Given the description of an element on the screen output the (x, y) to click on. 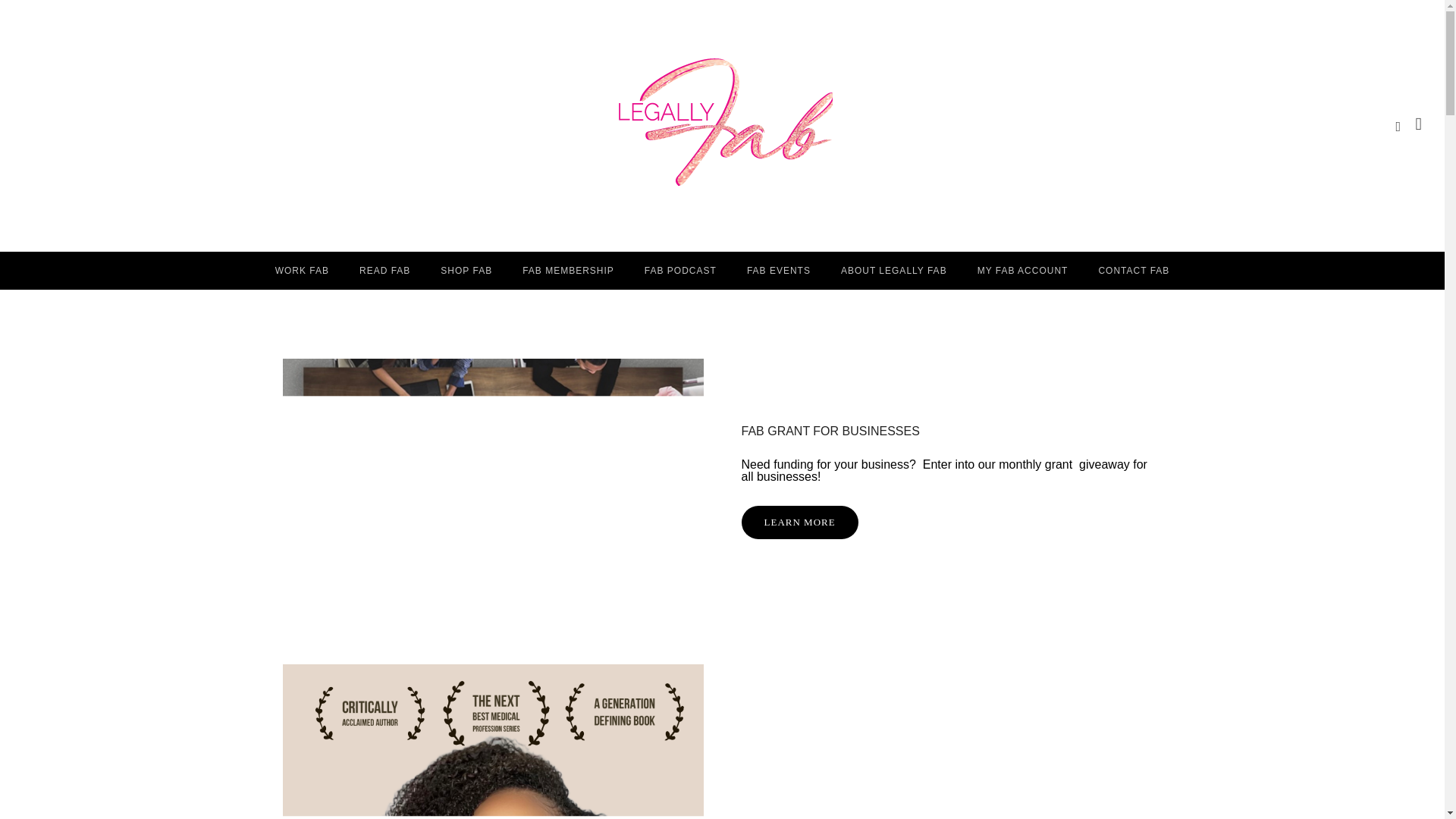
MY FAB ACCOUNT (1022, 270)
READ FAB (384, 270)
WORK FAB (301, 270)
FAB PODCAST (680, 270)
FAB EVENTS (778, 270)
WORK FAB (301, 270)
READ FAB (384, 270)
FAB MEMBERSHIP (567, 270)
CONTACT FAB (1134, 270)
SHOP FAB (465, 270)
